Given the description of an element on the screen output the (x, y) to click on. 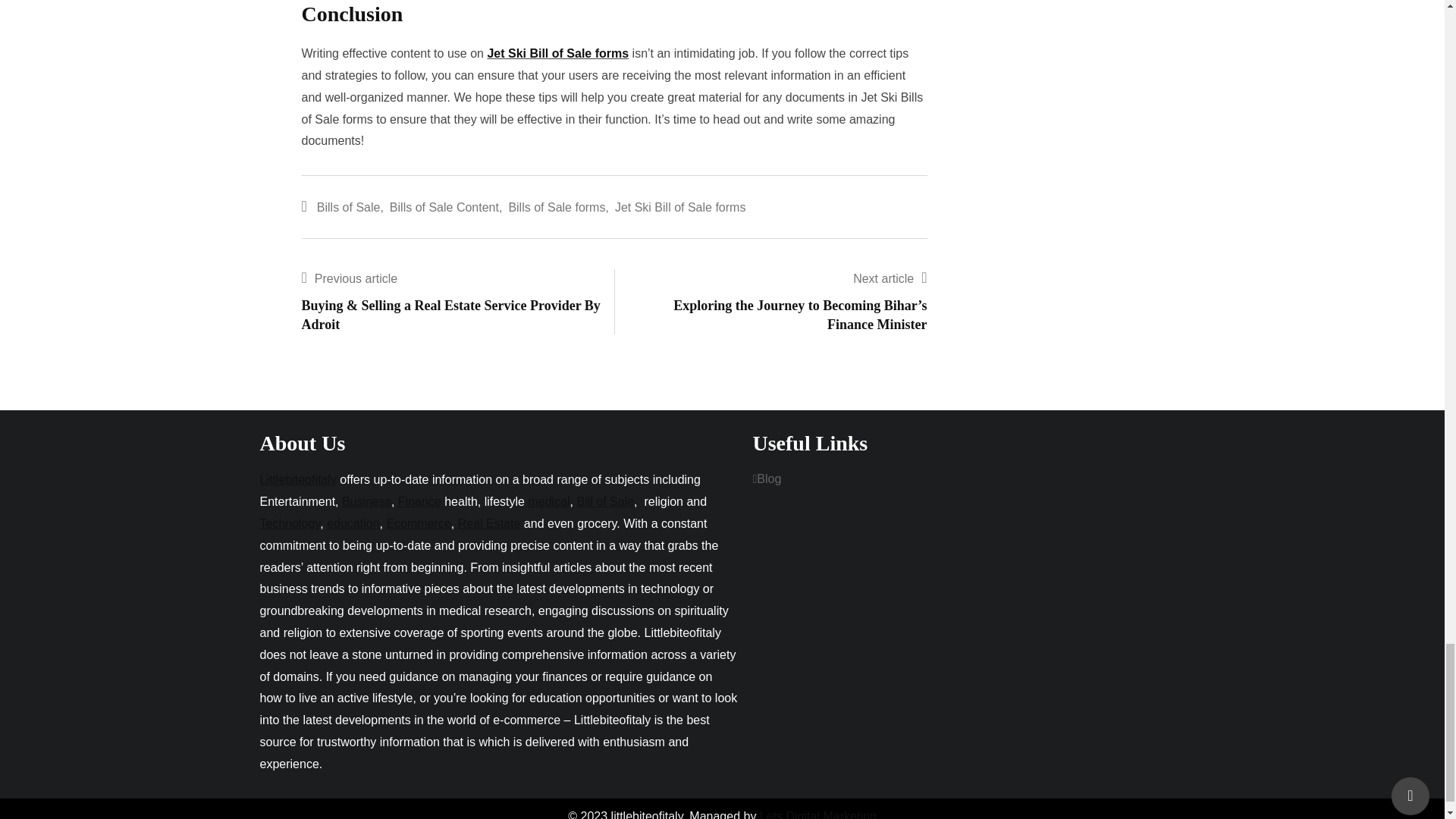
Bills of Sale (348, 207)
Previous article (355, 278)
Jet Ski Bill of Sale forms (557, 52)
Jet Ski Bill of Sale forms (679, 207)
Bills of Sale forms (556, 207)
Bills of Sale Content (444, 207)
